Given the description of an element on the screen output the (x, y) to click on. 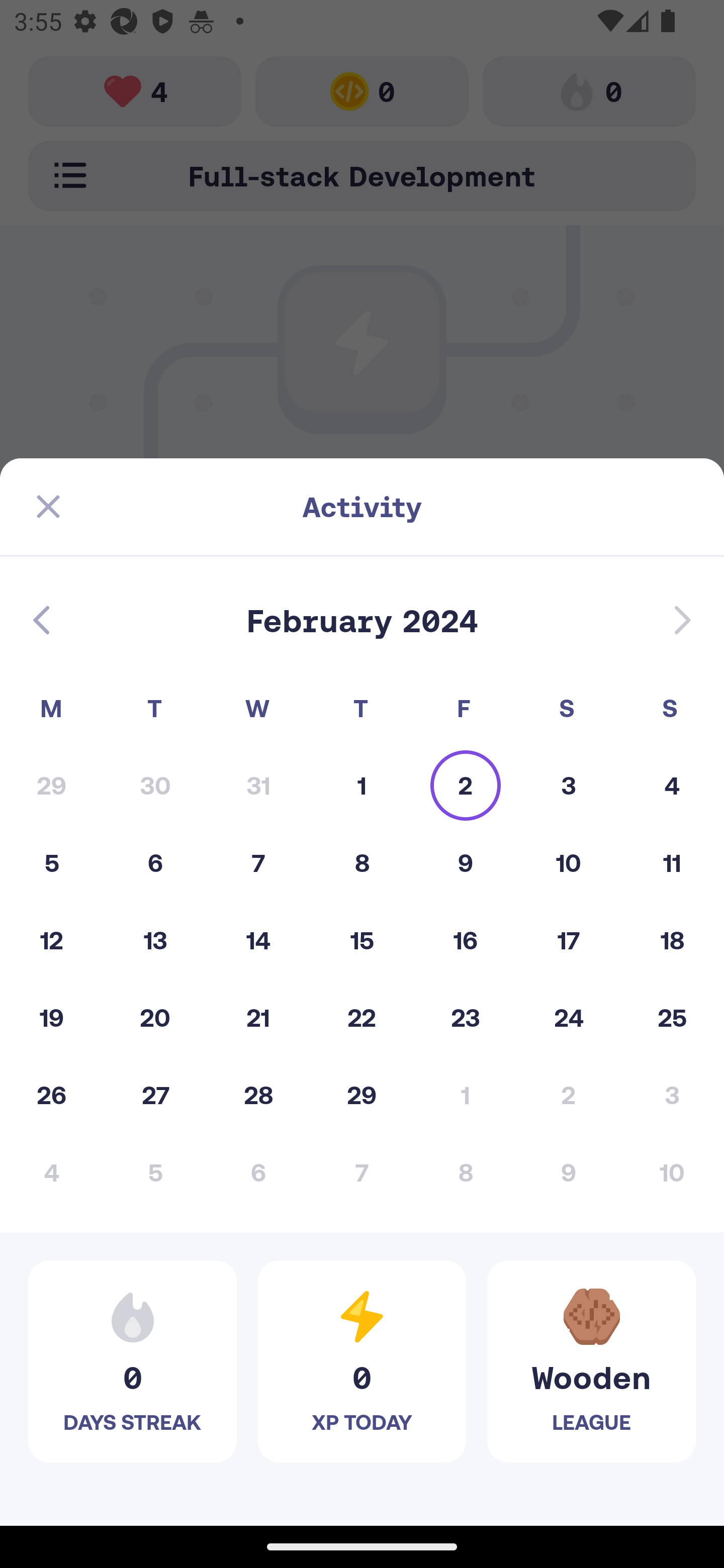
Close (47, 506)
